Given the description of an element on the screen output the (x, y) to click on. 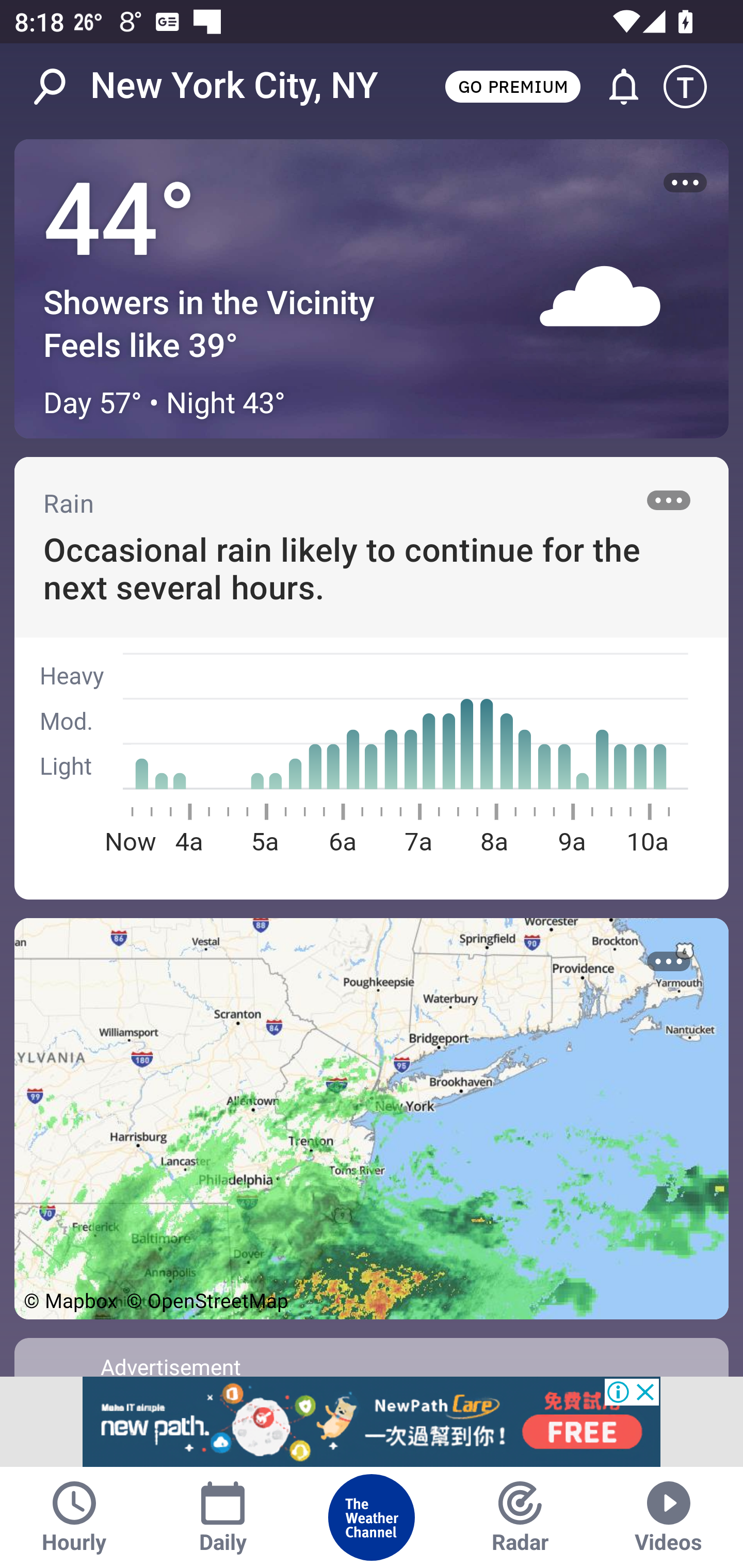
Search (59, 86)
Go to Alerts and Notifications (614, 86)
Setting icon T (694, 86)
New York City, NY (234, 85)
GO PREMIUM (512, 85)
More options (684, 182)
More options (668, 500)
See Map Details (371, 1118)
More options (668, 961)
newpathcare (371, 1421)
Hourly Tab Hourly (74, 1517)
Daily Tab Daily (222, 1517)
Radar Tab Radar (519, 1517)
Videos Tab Videos (668, 1517)
